Given the description of an element on the screen output the (x, y) to click on. 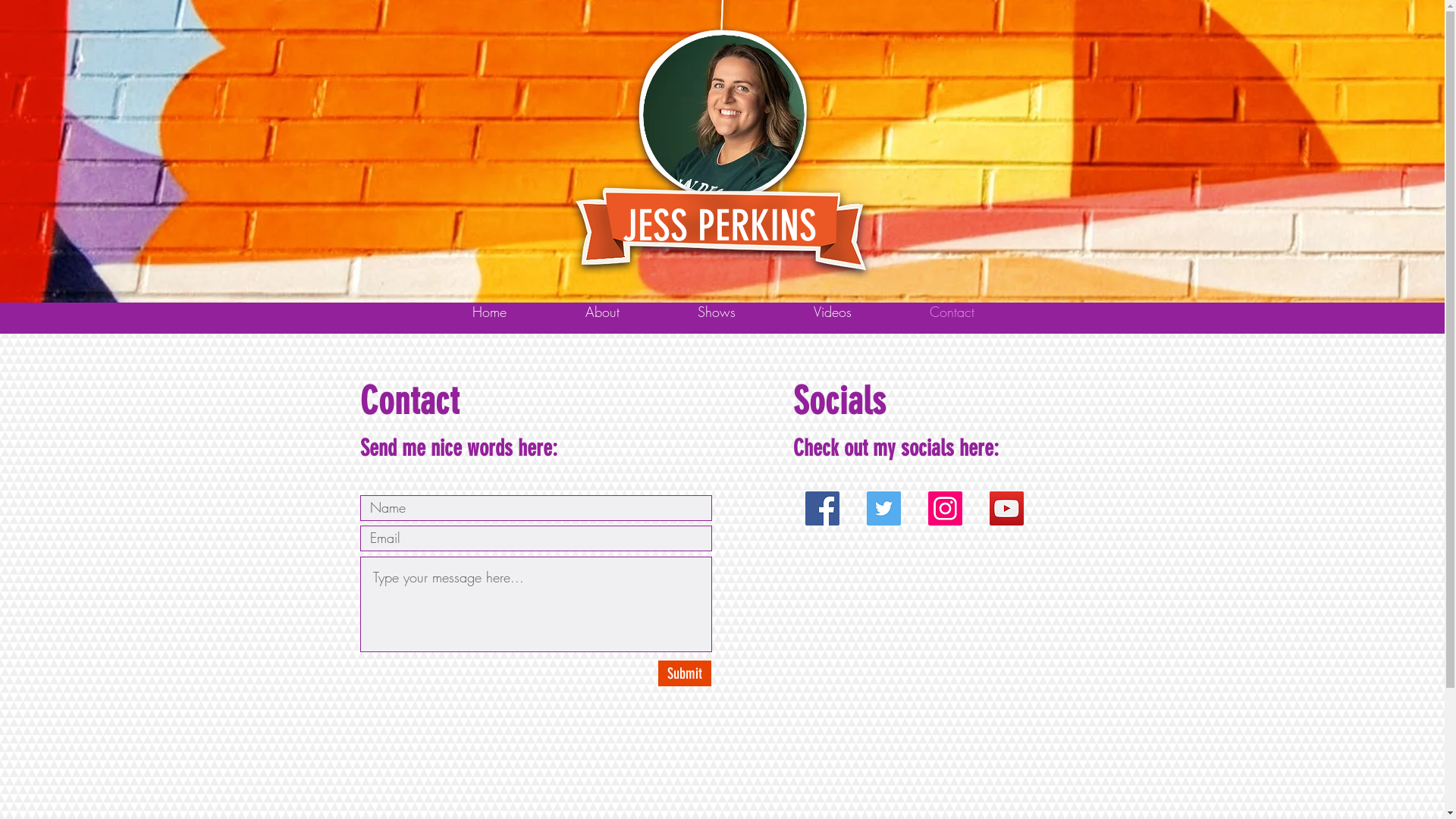
JESS PERKINS Element type: text (718, 225)
Shows Element type: text (716, 311)
Submit Element type: text (684, 673)
About Element type: text (602, 311)
Contact Element type: text (951, 311)
Home Element type: text (488, 311)
Videos Element type: text (833, 311)
